Given the description of an element on the screen output the (x, y) to click on. 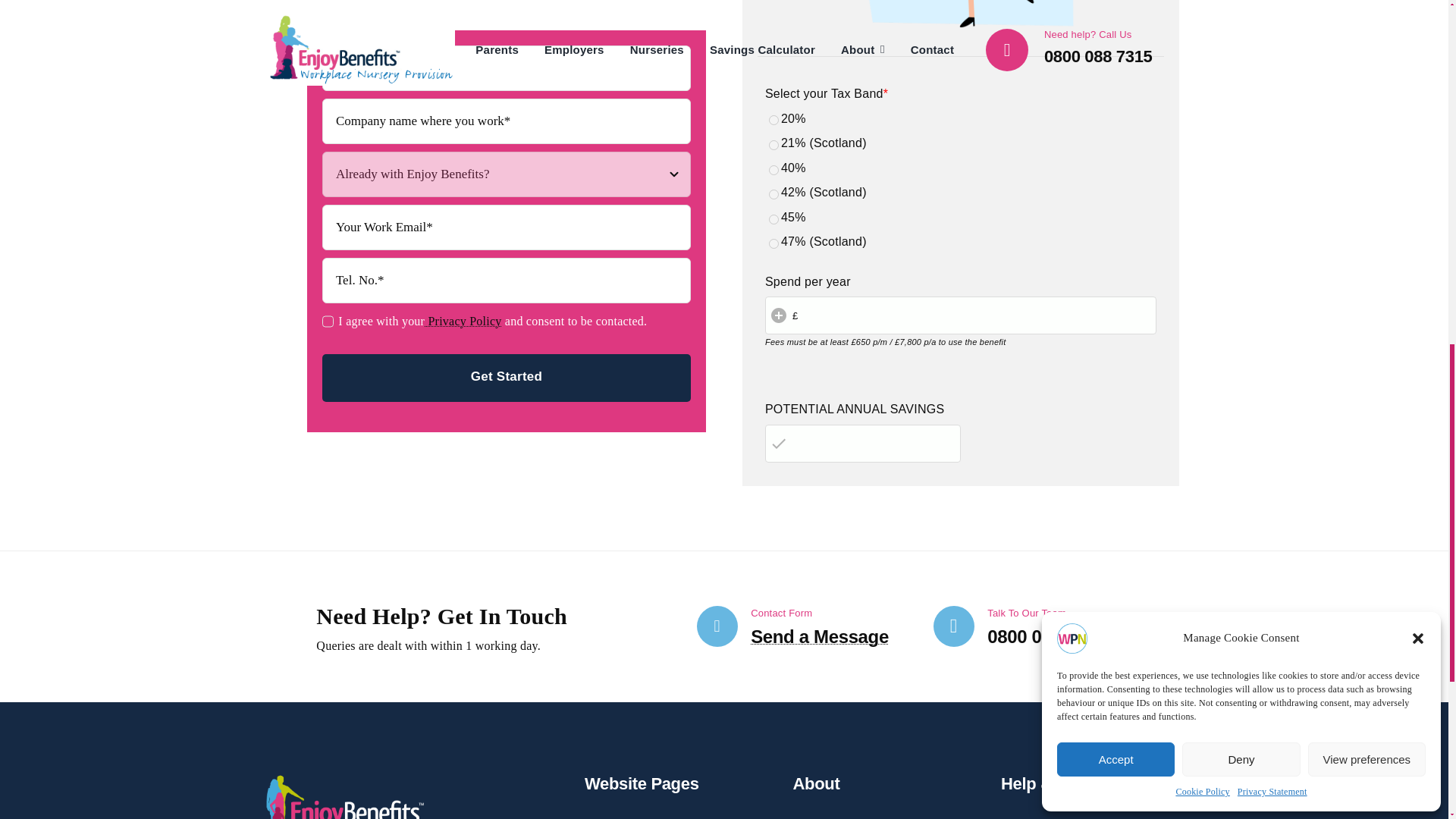
Send a Message (819, 636)
0.19 (773, 120)
0.37 (773, 194)
0.4037 (773, 219)
Privacy Policy (462, 320)
0.22375 (773, 144)
0.3475 (773, 170)
Get Started (505, 377)
WPN-NurseryDeptImgs-P (960, 20)
 0.4262 (773, 243)
